Given the description of an element on the screen output the (x, y) to click on. 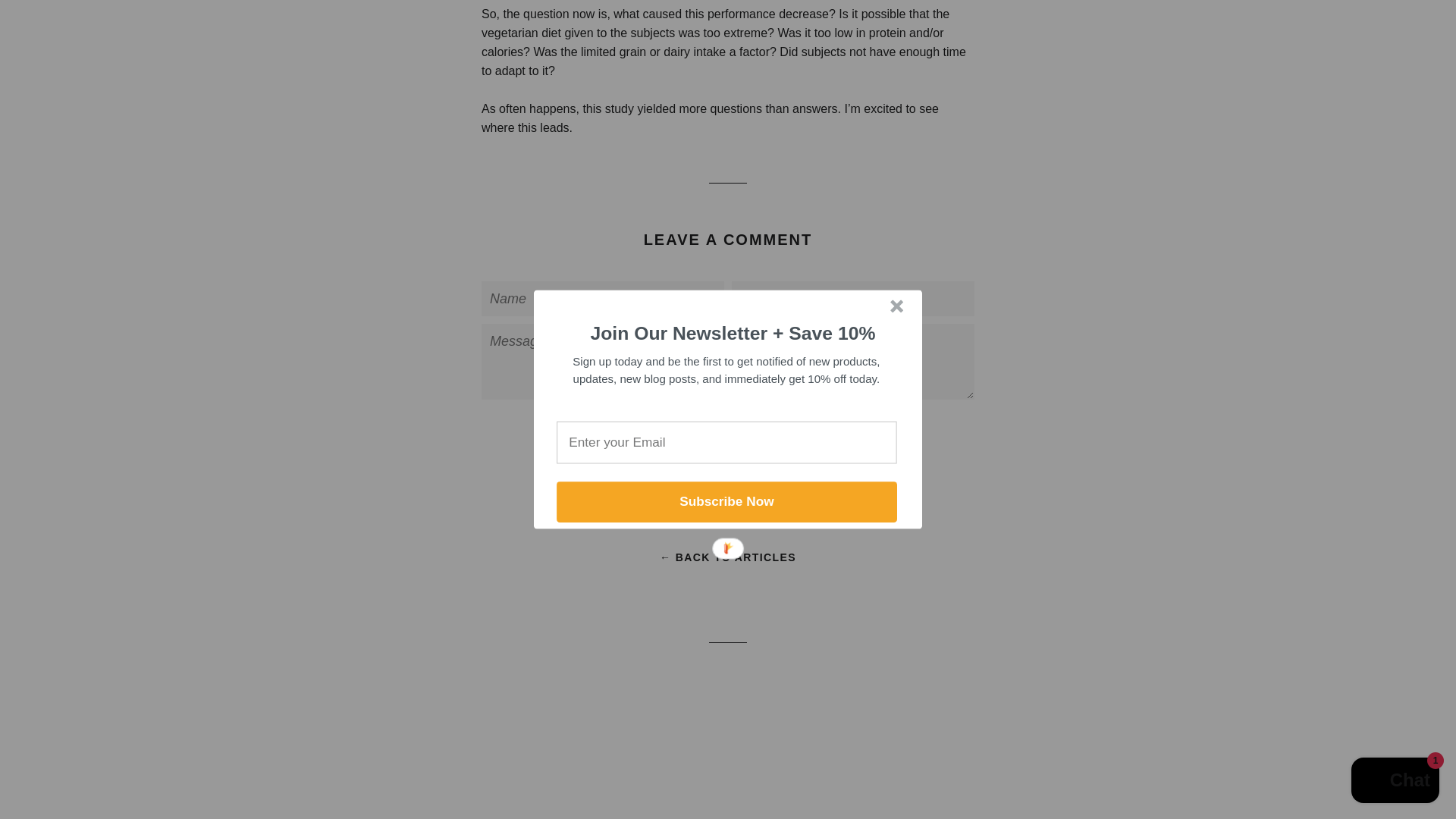
Meta Pay (1054, 746)
Shop Pay (1019, 776)
PayPal (984, 776)
Visa (1088, 776)
Venmo (1054, 776)
Discover (1019, 746)
American Express (950, 746)
Diners Club (984, 746)
Mastercard (1088, 746)
